Given the description of an element on the screen output the (x, y) to click on. 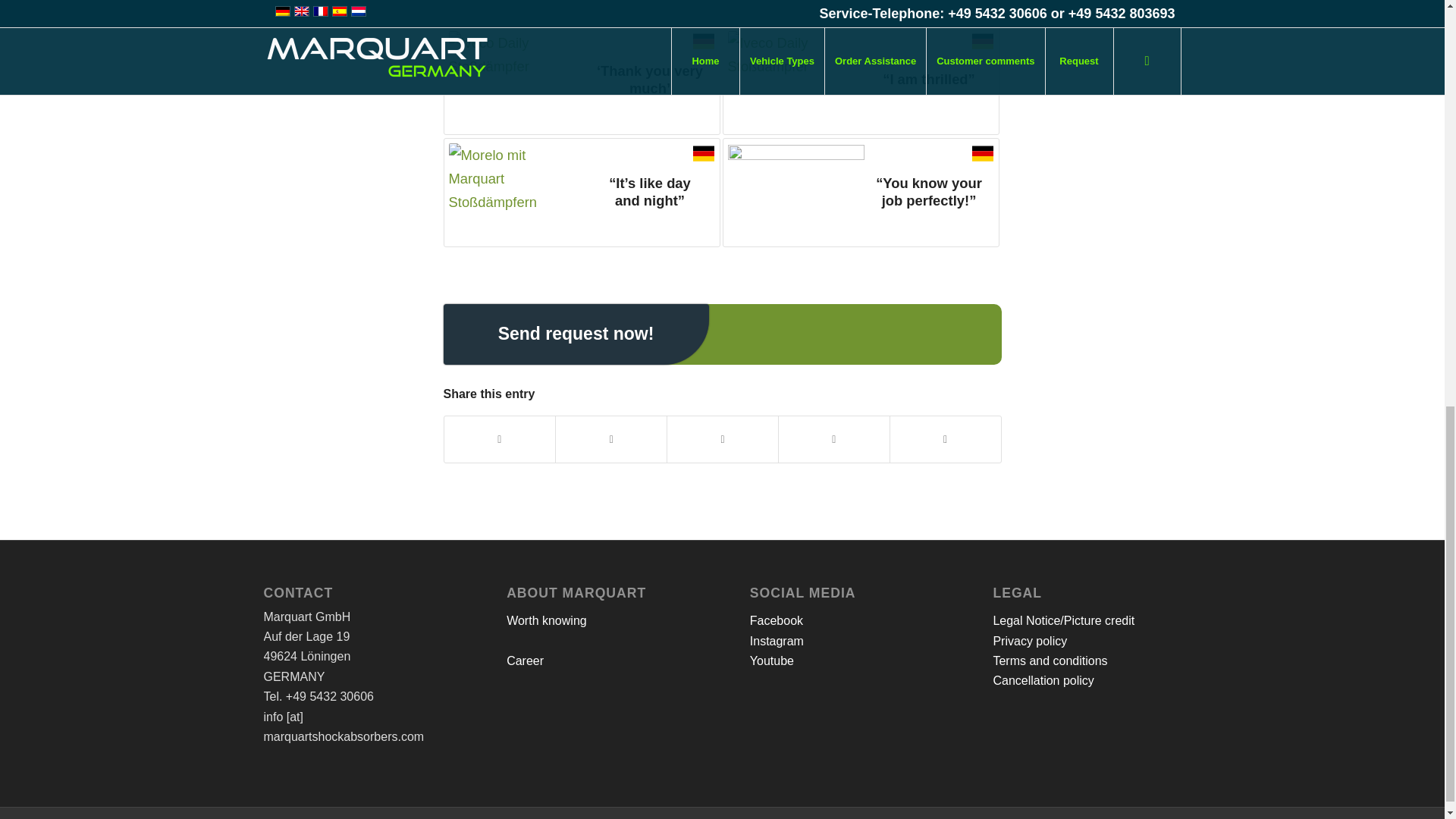
Send request now! (574, 333)
Iveco Daily Marquart Stossdaempfer q (516, 80)
22799 q (796, 80)
